Given the description of an element on the screen output the (x, y) to click on. 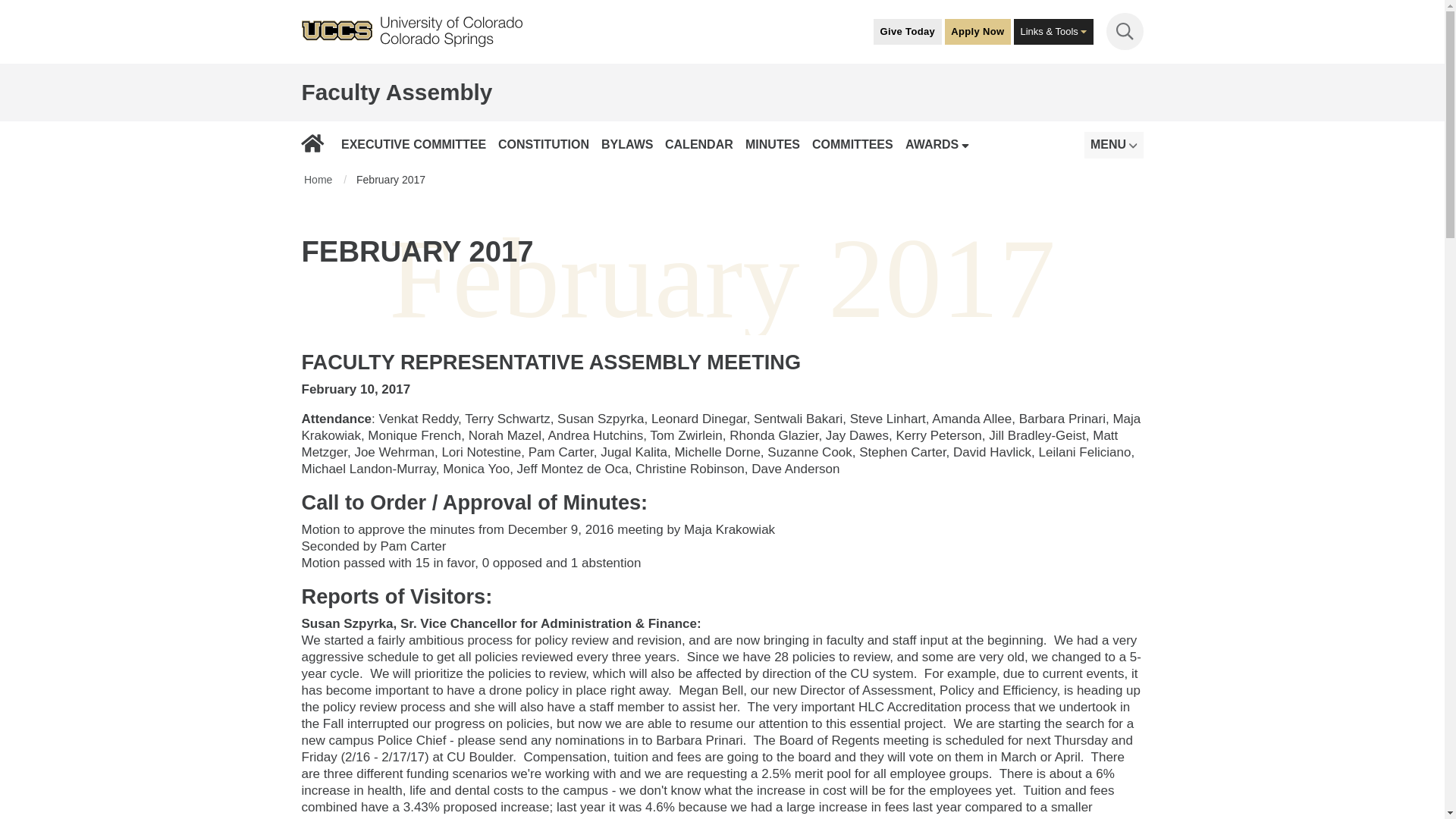
Home (315, 144)
UCCS Home (411, 31)
Faculty Assembly Home (397, 91)
CONSTITUTION (543, 144)
Faculty Assembly (397, 91)
Give Today (907, 31)
EXECUTIVE COMMITTEE (413, 144)
HOME (315, 144)
Apply Now (977, 31)
